Given the description of an element on the screen output the (x, y) to click on. 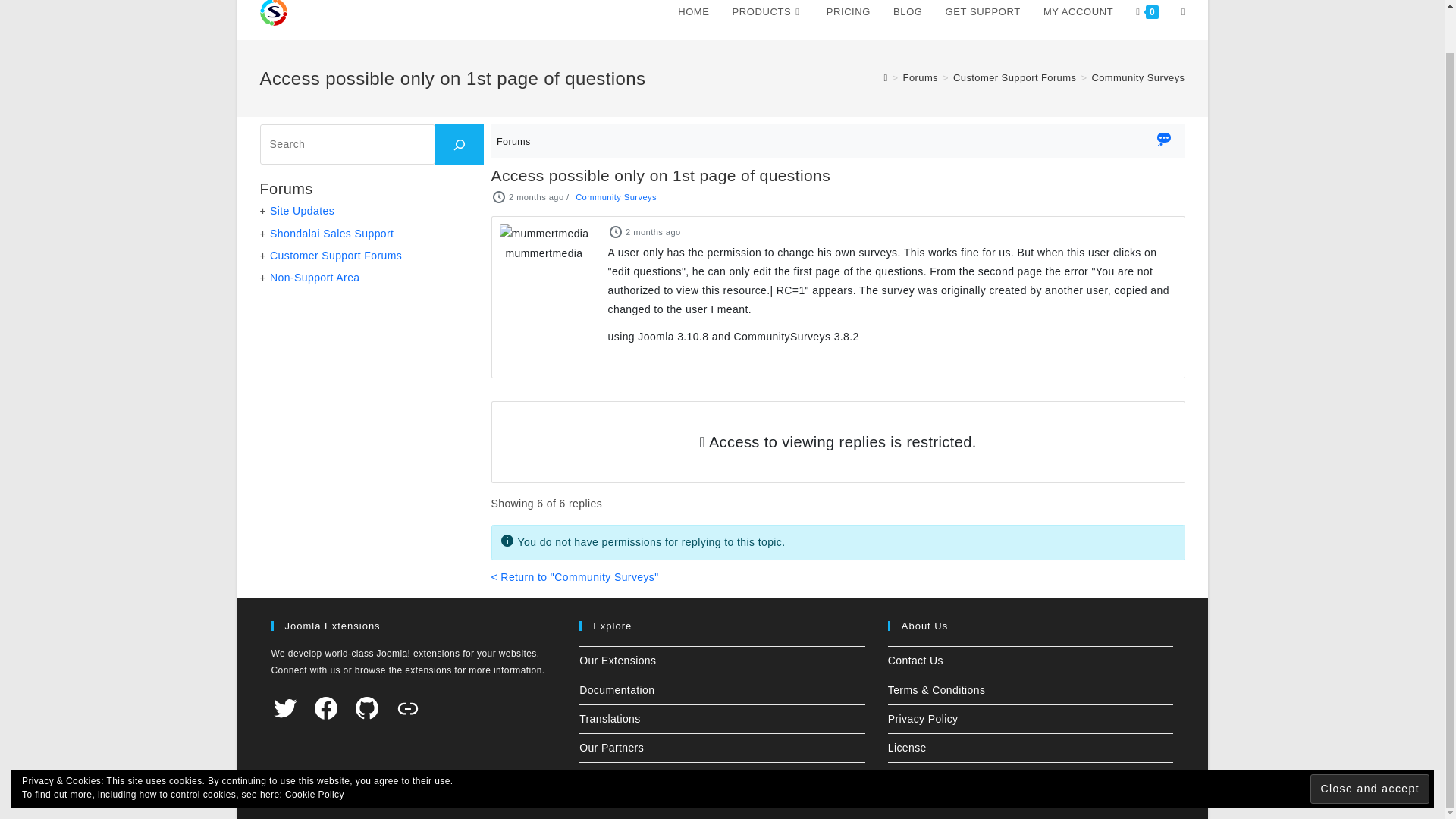
Close and accept (1369, 743)
GET SUPPORT (983, 20)
PRODUCTS (767, 20)
MY ACCOUNT (1078, 20)
Trending Topics (1163, 140)
0 (1146, 20)
HOME (693, 20)
PRICING (848, 20)
BLOG (908, 20)
